Given the description of an element on the screen output the (x, y) to click on. 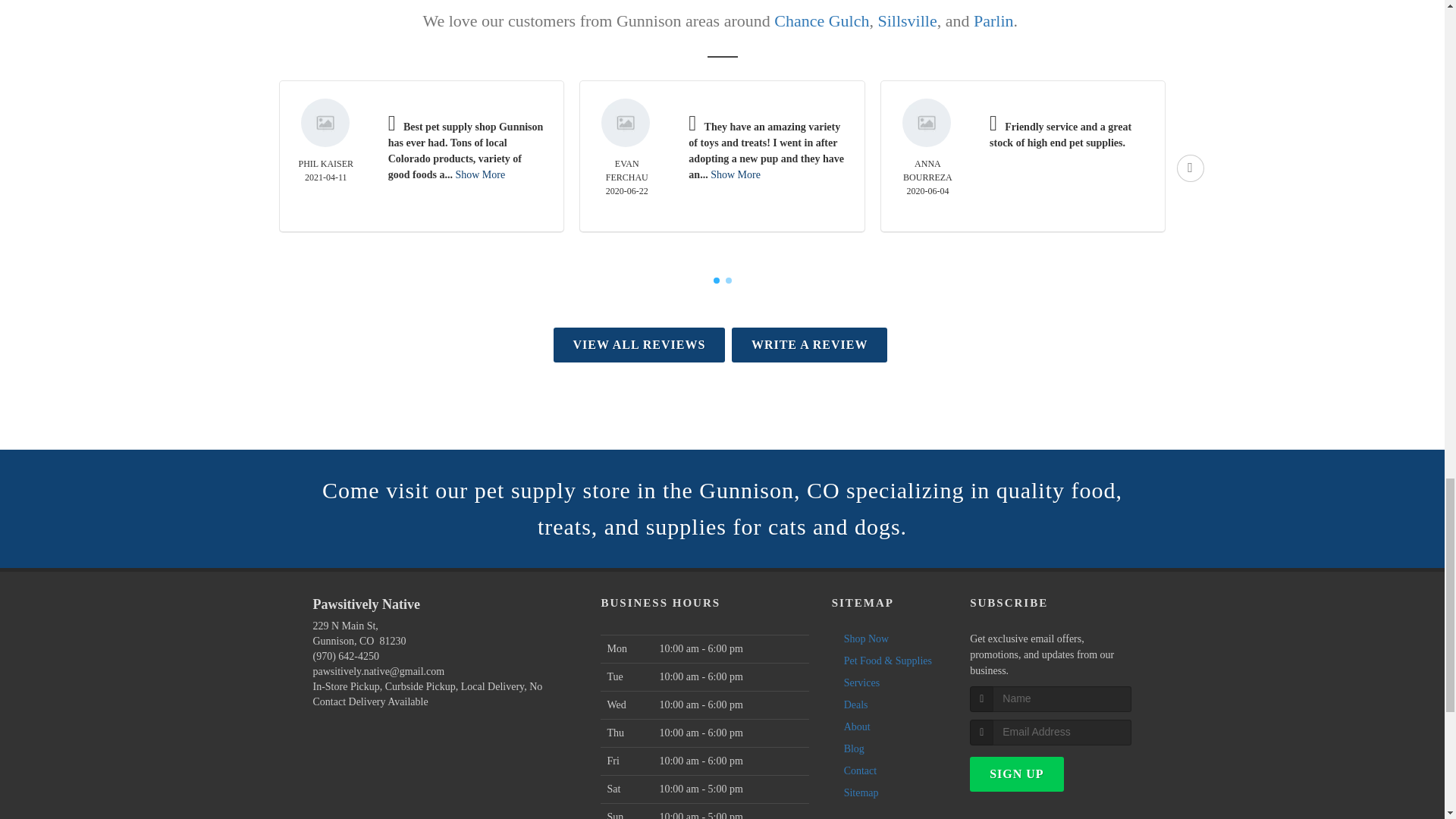
Get Directions From Parlin (993, 20)
Get Directions From Chance Gulch (821, 20)
Show More (479, 174)
Parlin (993, 20)
Show More (735, 174)
Sillsville (906, 20)
Get Directions From Sillsville (906, 20)
Chance Gulch (821, 20)
